Given the description of an element on the screen output the (x, y) to click on. 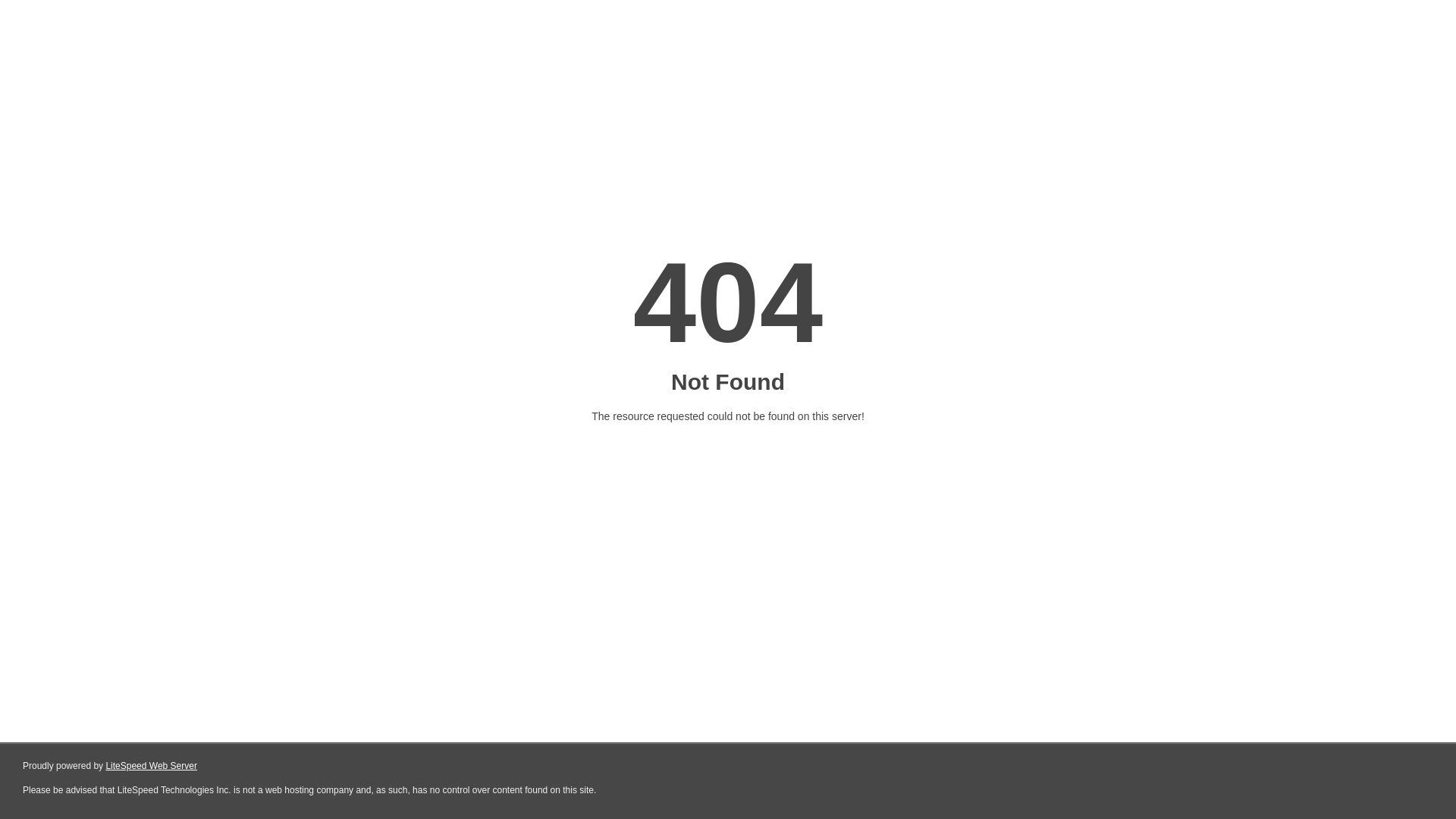
LiteSpeed Web Server Element type: text (151, 765)
